Given the description of an element on the screen output the (x, y) to click on. 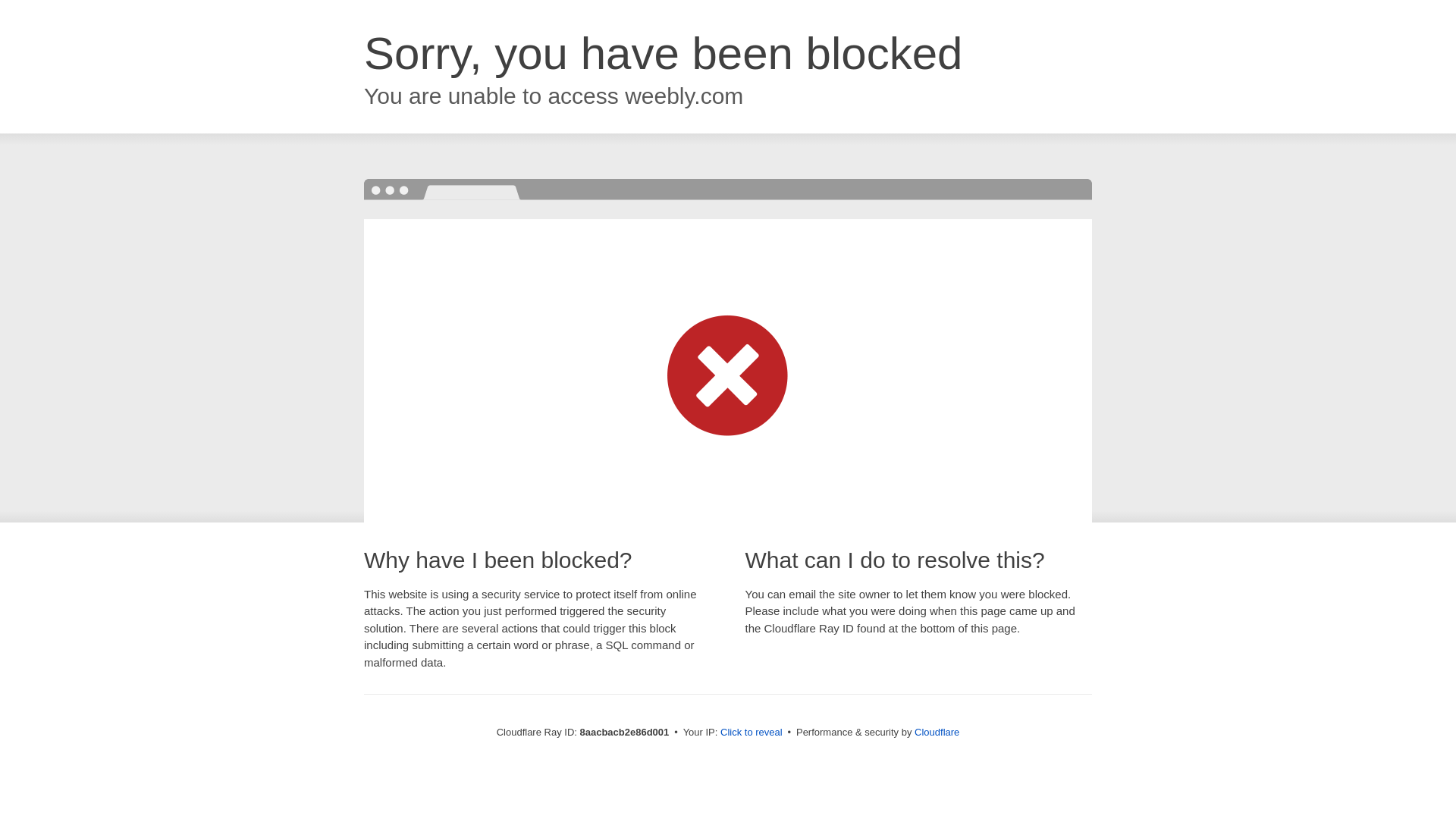
Click to reveal (751, 732)
Cloudflare (936, 731)
